Given the description of an element on the screen output the (x, y) to click on. 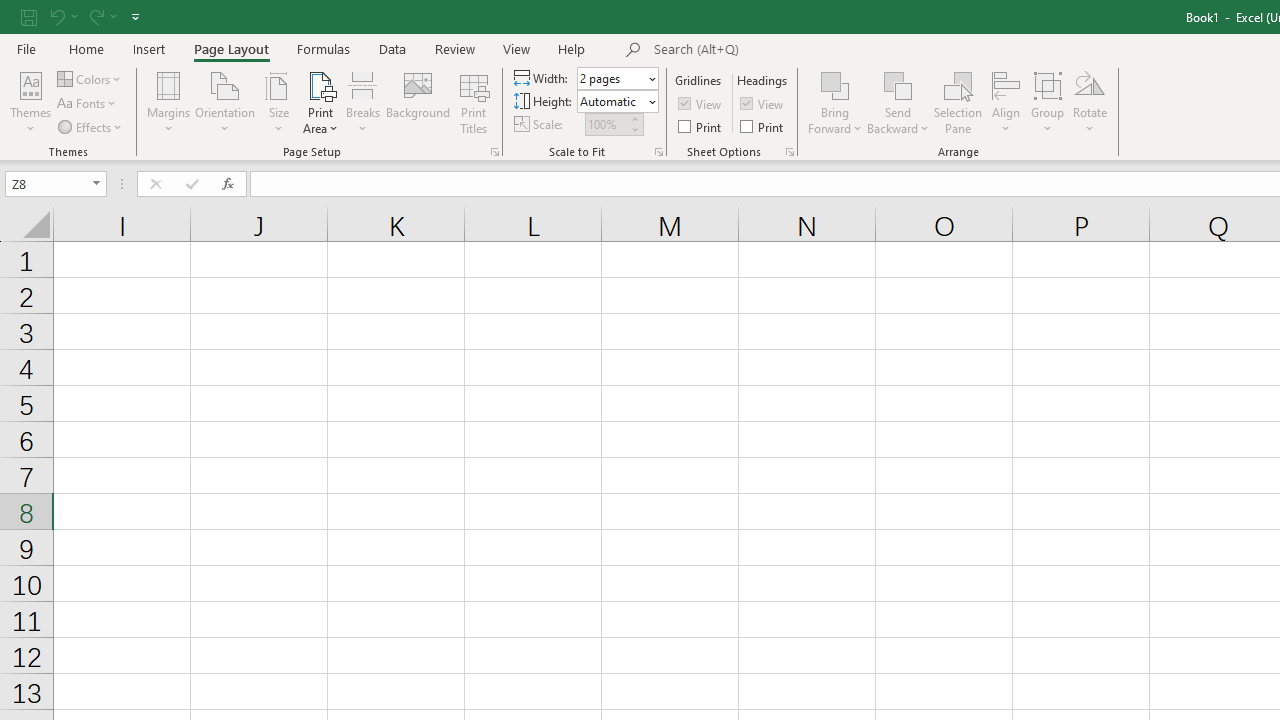
Group (1047, 102)
Background... (418, 102)
Effects (91, 126)
Review (454, 48)
Redo (95, 15)
Undo (62, 15)
Redo (102, 15)
File Tab (26, 48)
System (10, 11)
Save (29, 15)
Name Box (46, 183)
Microsoft search (792, 49)
More Options (898, 121)
Open (96, 183)
Breaks (362, 102)
